Given the description of an element on the screen output the (x, y) to click on. 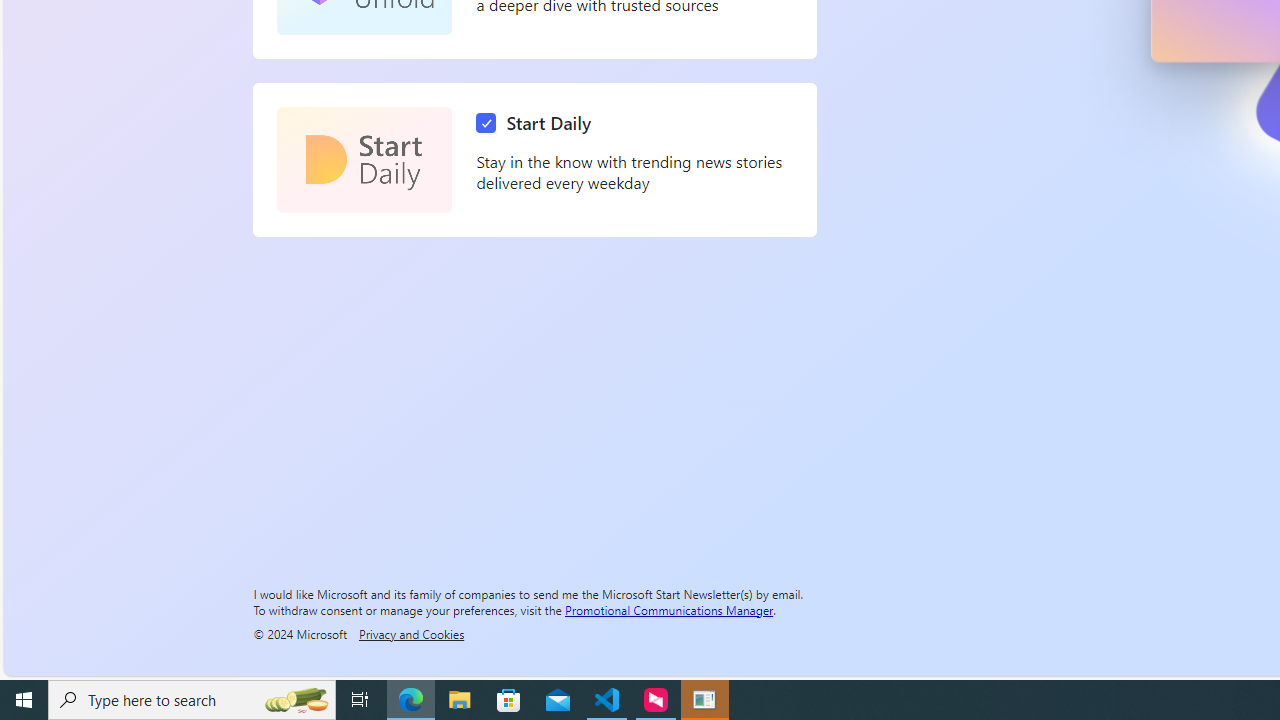
Privacy and Cookies (411, 633)
Promotional Communications Manager (669, 609)
Start Daily (364, 160)
Start Daily (538, 123)
